Given the description of an element on the screen output the (x, y) to click on. 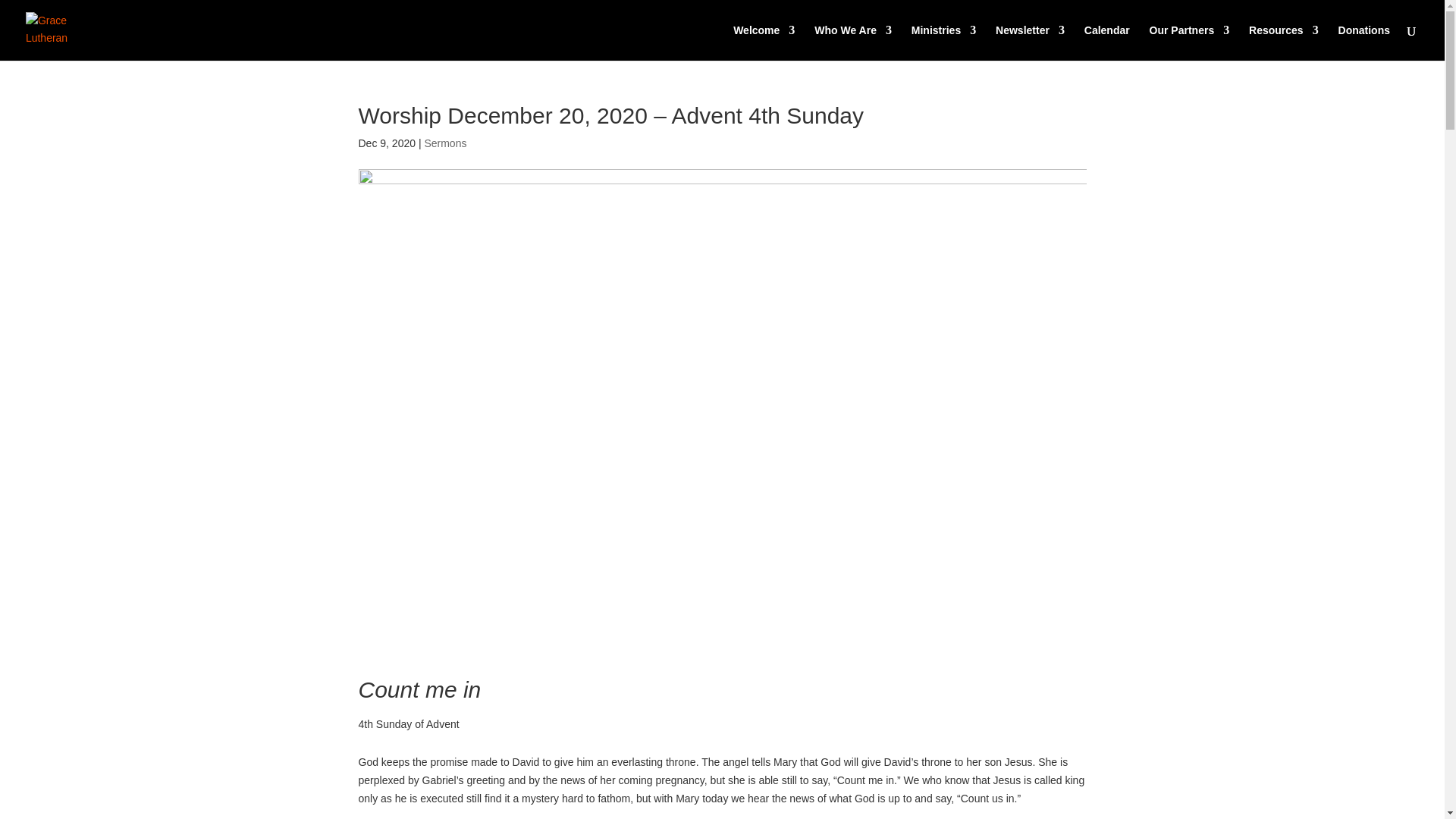
Welcome (763, 42)
Resources (1284, 42)
Newsletter (1029, 42)
Ministries (943, 42)
Who We Are (852, 42)
Our Partners (1190, 42)
Calendar (1106, 42)
